Given the description of an element on the screen output the (x, y) to click on. 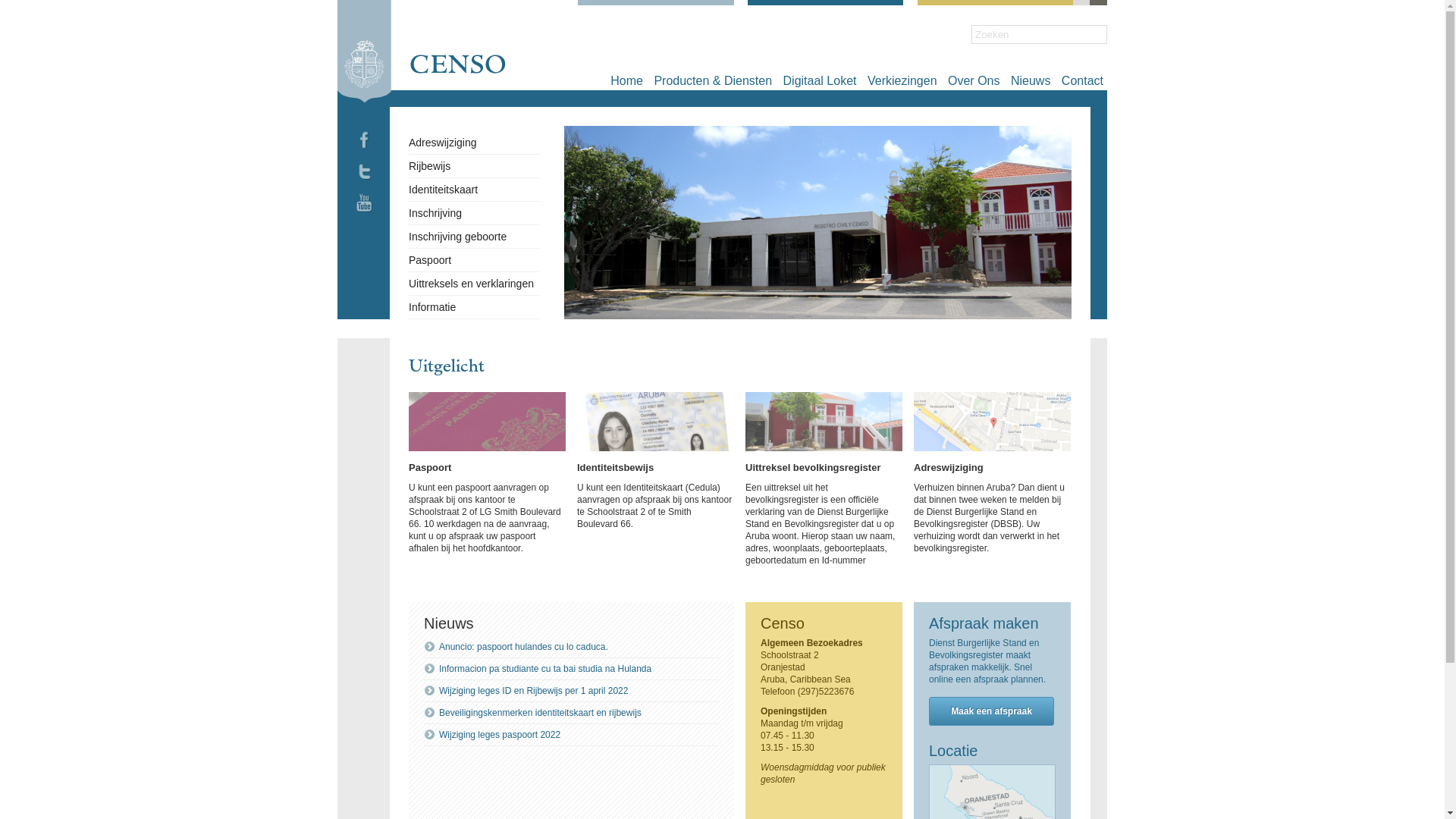
Identiteitskaart Element type: text (442, 189)
Informacion pa studiante cu ta bai studia na Hulanda Element type: text (545, 668)
Adreswijziging Element type: text (948, 467)
Home Element type: text (626, 80)
Over Ons Element type: text (973, 80)
Digitaal Loket Element type: text (819, 80)
Adreswijziging Element type: text (442, 142)
Inschrijving Element type: text (434, 213)
Paspoort Element type: text (429, 260)
Youtube Element type: hover (364, 216)
Twitter Element type: hover (363, 185)
Nieuws Element type: text (1030, 80)
Locatie Element type: text (953, 750)
Beveiligingskenmerken identiteitskaart en rijbewijs Element type: text (540, 712)
Rijbewijs Element type: text (429, 166)
Identiteitsbewijs Element type: text (615, 467)
Dienst Burgerlijke Stand en bevolkingsregister - Censo Aruba Element type: hover (421, 51)
Verkiezingen Element type: text (902, 80)
Wijziging leges paspoort 2022 Element type: text (499, 734)
Producten & Diensten Element type: text (712, 80)
Uittreksels en verklaringen Element type: text (470, 283)
Afspraak maken Element type: text (983, 623)
Maak een afspraak Element type: text (991, 710)
Anuncio: paspoort hulandes cu lo caduca. Element type: text (523, 646)
Inschrijving geboorte Element type: text (457, 236)
Paspoort Element type: text (429, 467)
Wijziging leges ID en Rijbewijs per 1 april 2022 Element type: text (533, 690)
Contact Element type: text (1082, 80)
Uittreksel bevolkingsregister Element type: text (812, 467)
Informatie Element type: text (431, 307)
Facebook Element type: hover (363, 154)
